Given the description of an element on the screen output the (x, y) to click on. 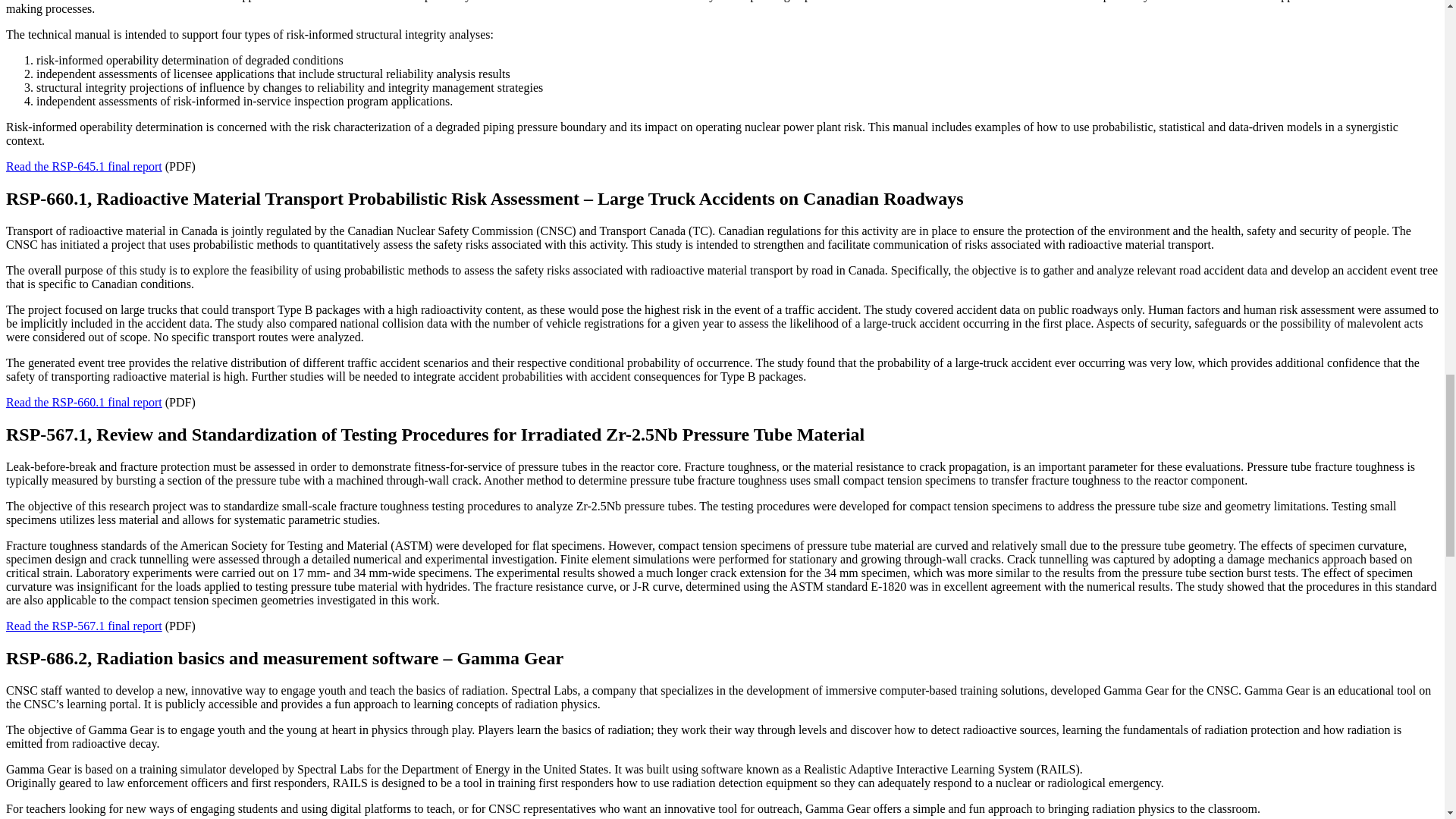
Read the RSP-660.1 final report (83, 401)
Read the RSP-645.1 final report (83, 165)
